Given the description of an element on the screen output the (x, y) to click on. 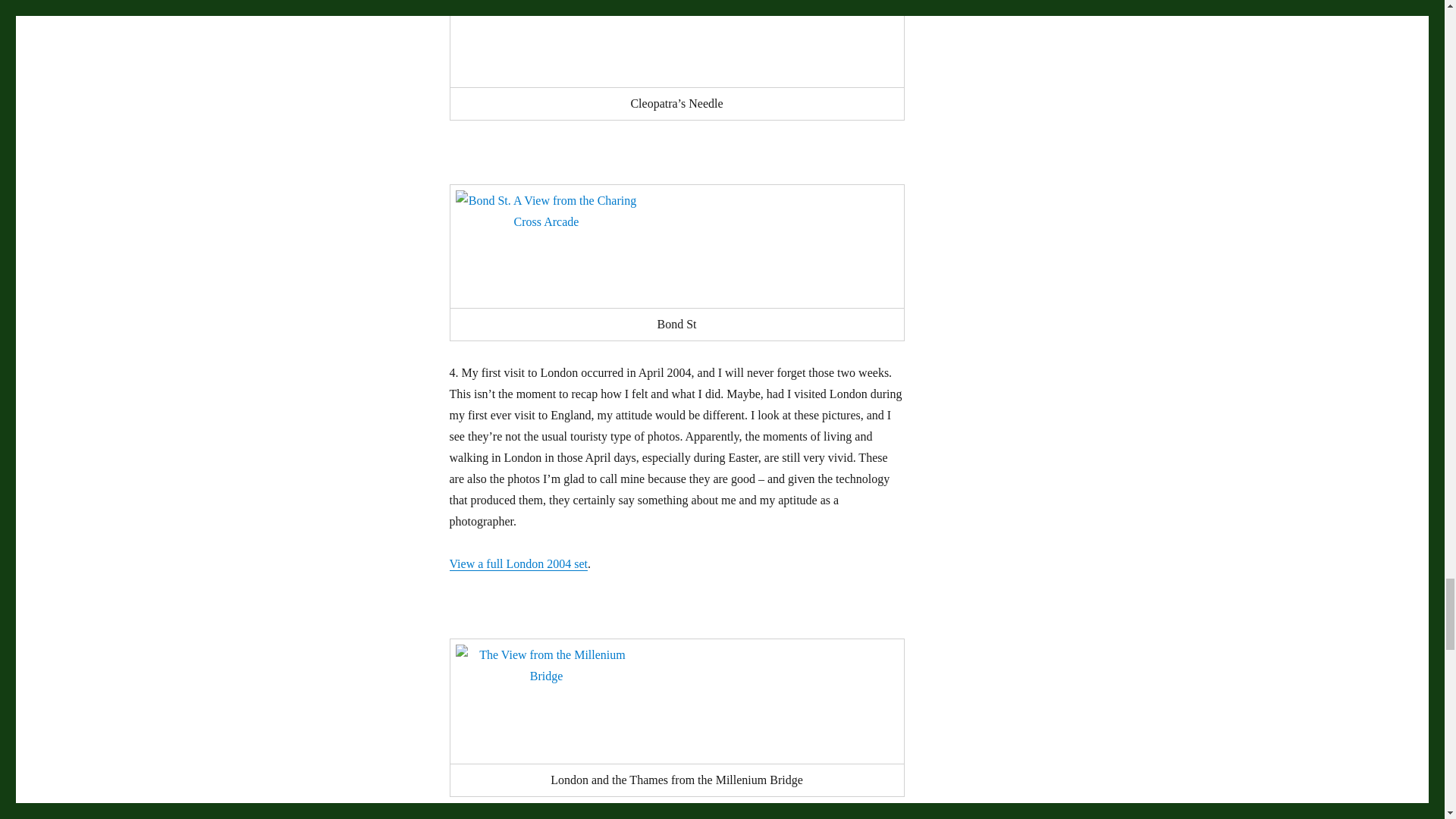
Cleopatra's Needle by loscuadernosdejulia, on Flickr (676, 40)
